Given the description of an element on the screen output the (x, y) to click on. 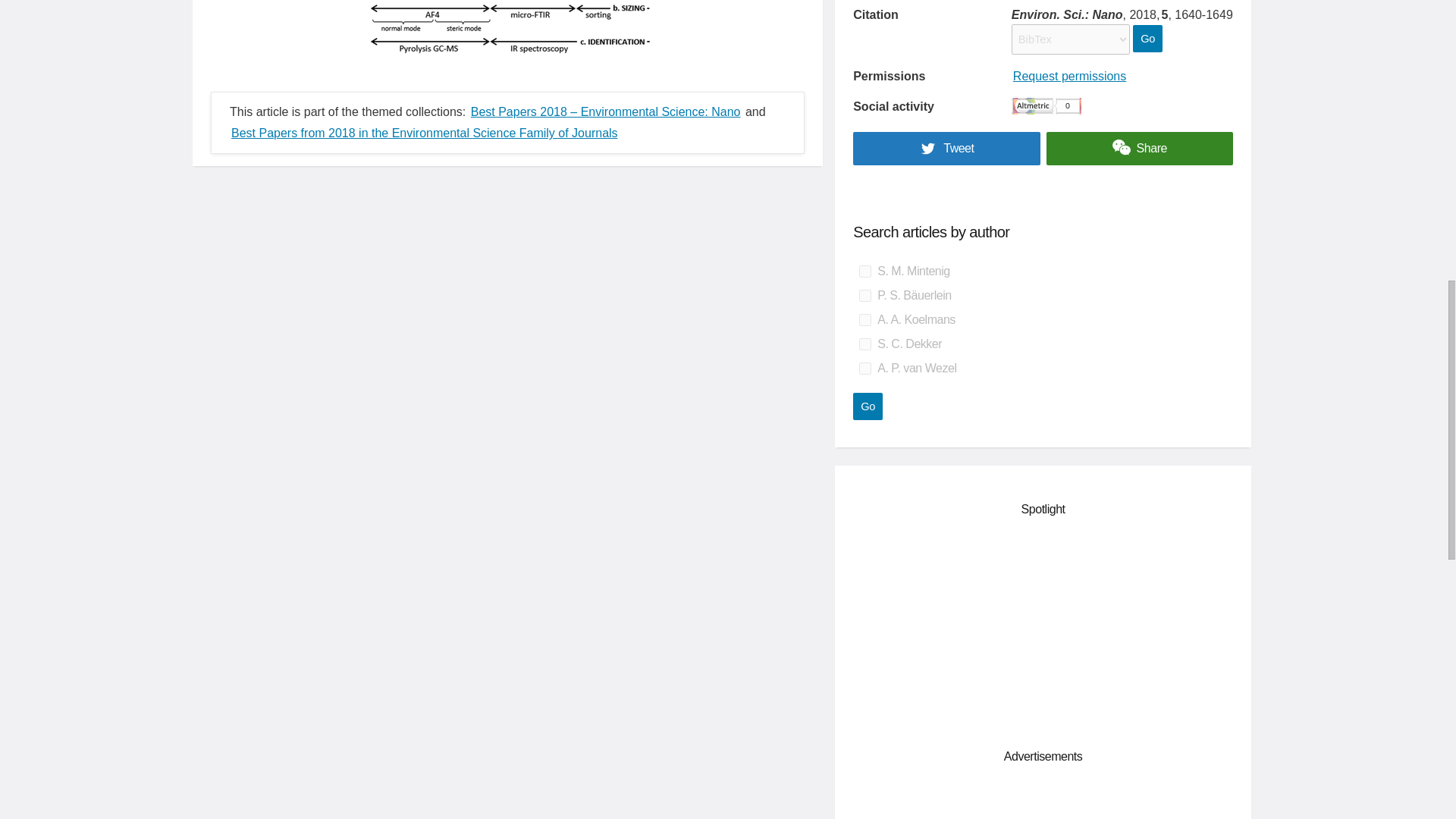
3rd party ad content (1043, 629)
Go (867, 406)
on (864, 319)
on (864, 271)
Go (1146, 38)
Go (867, 406)
on (864, 344)
on (864, 295)
on (864, 368)
